Given the description of an element on the screen output the (x, y) to click on. 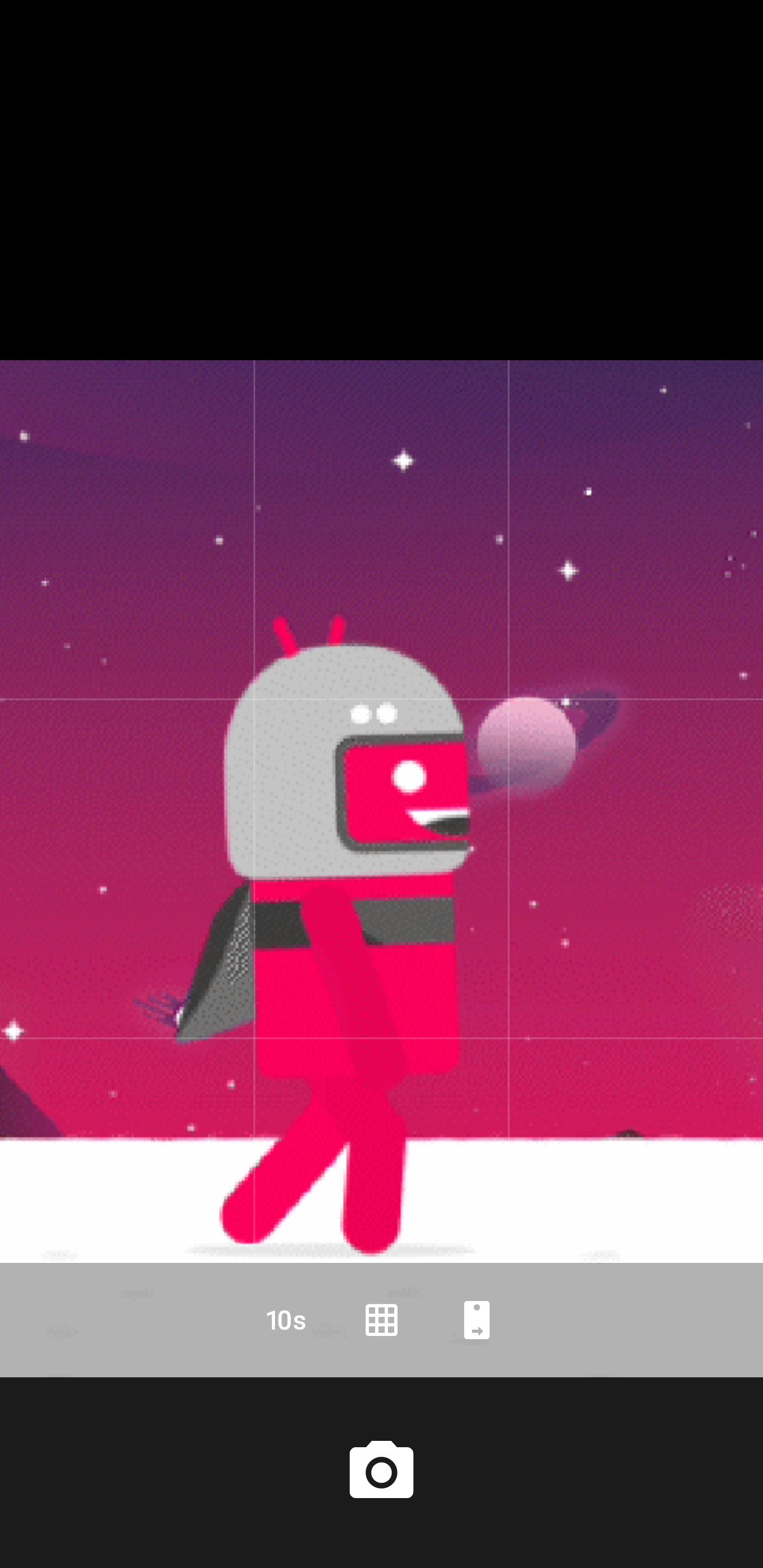
Countdown timer duration is set to 10 seconds (285, 1319)
Grid lines on (381, 1319)
Back camera (476, 1319)
Shutter (381, 1472)
